Given the description of an element on the screen output the (x, y) to click on. 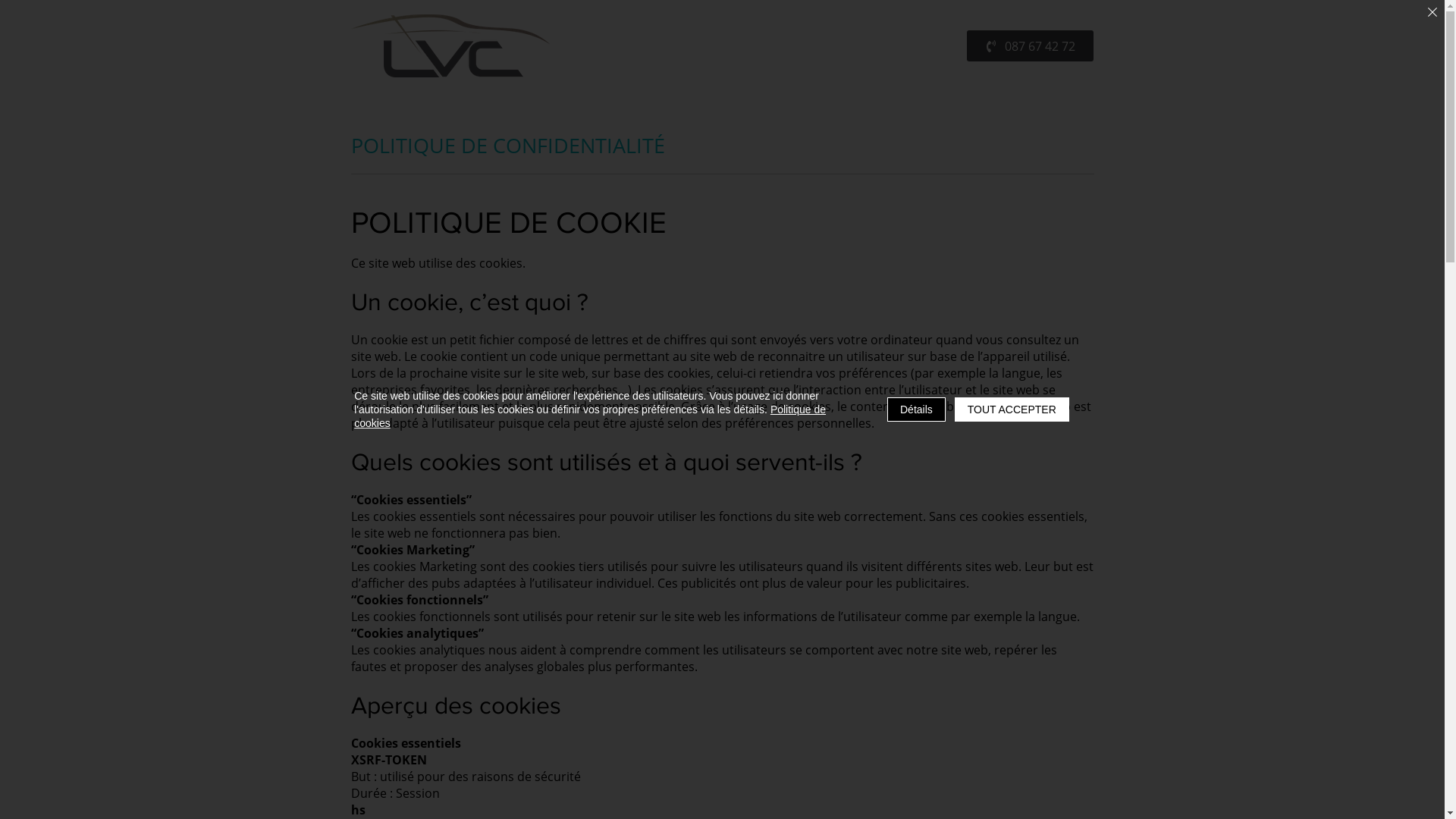
Politique de cookies Element type: text (589, 416)
TOUT ACCEPTER Element type: text (1011, 409)
087 67 42 72 Element type: text (1029, 45)
